Given the description of an element on the screen output the (x, y) to click on. 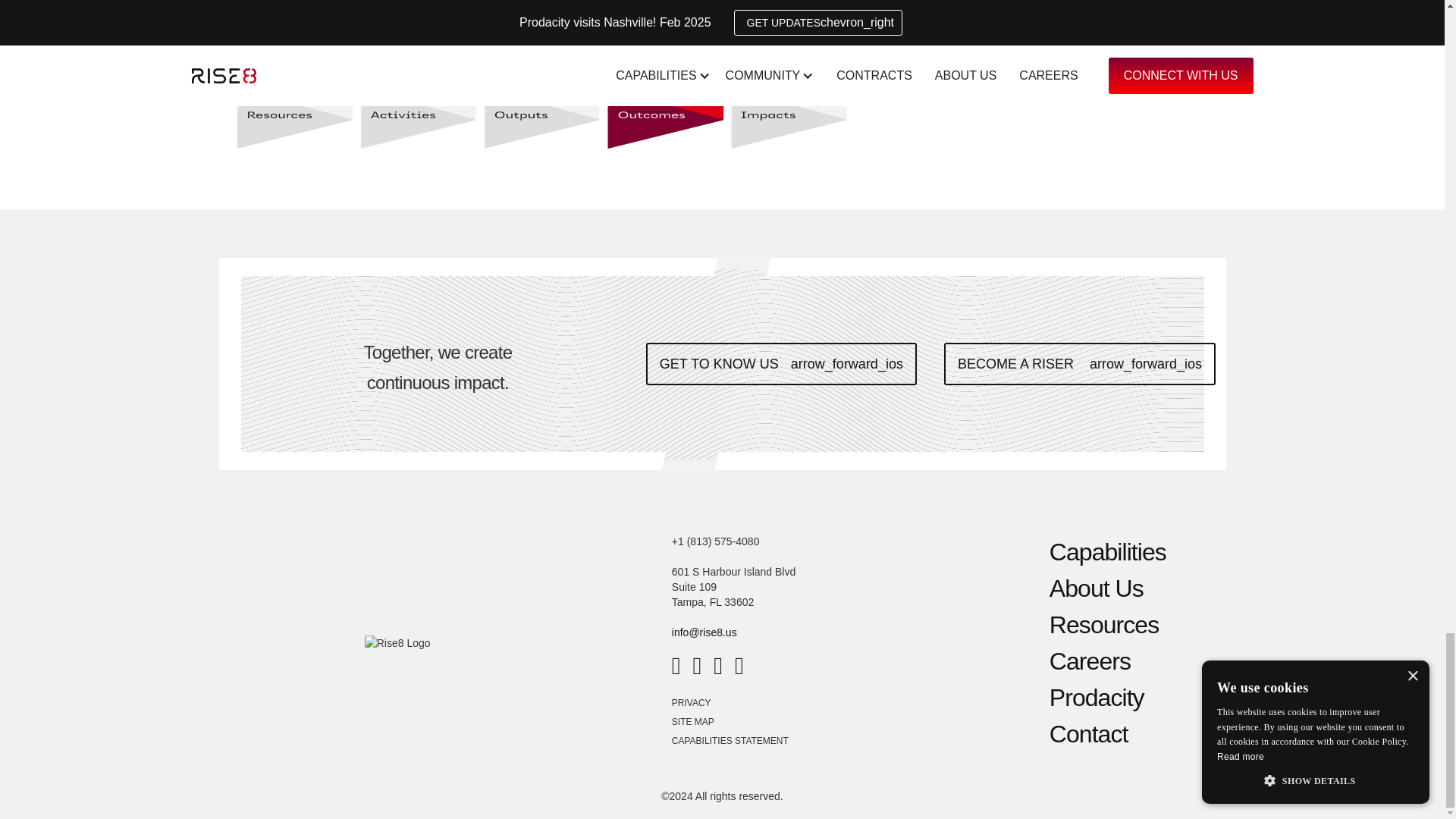
About Us (1107, 588)
Resources (1107, 624)
Capabilities (1107, 551)
CAPABILITIES STATEMENT (730, 742)
PRIVACY (691, 704)
Careers (1107, 660)
Contact (1107, 733)
SITE MAP (692, 723)
Prodacity (1107, 697)
